Given the description of an element on the screen output the (x, y) to click on. 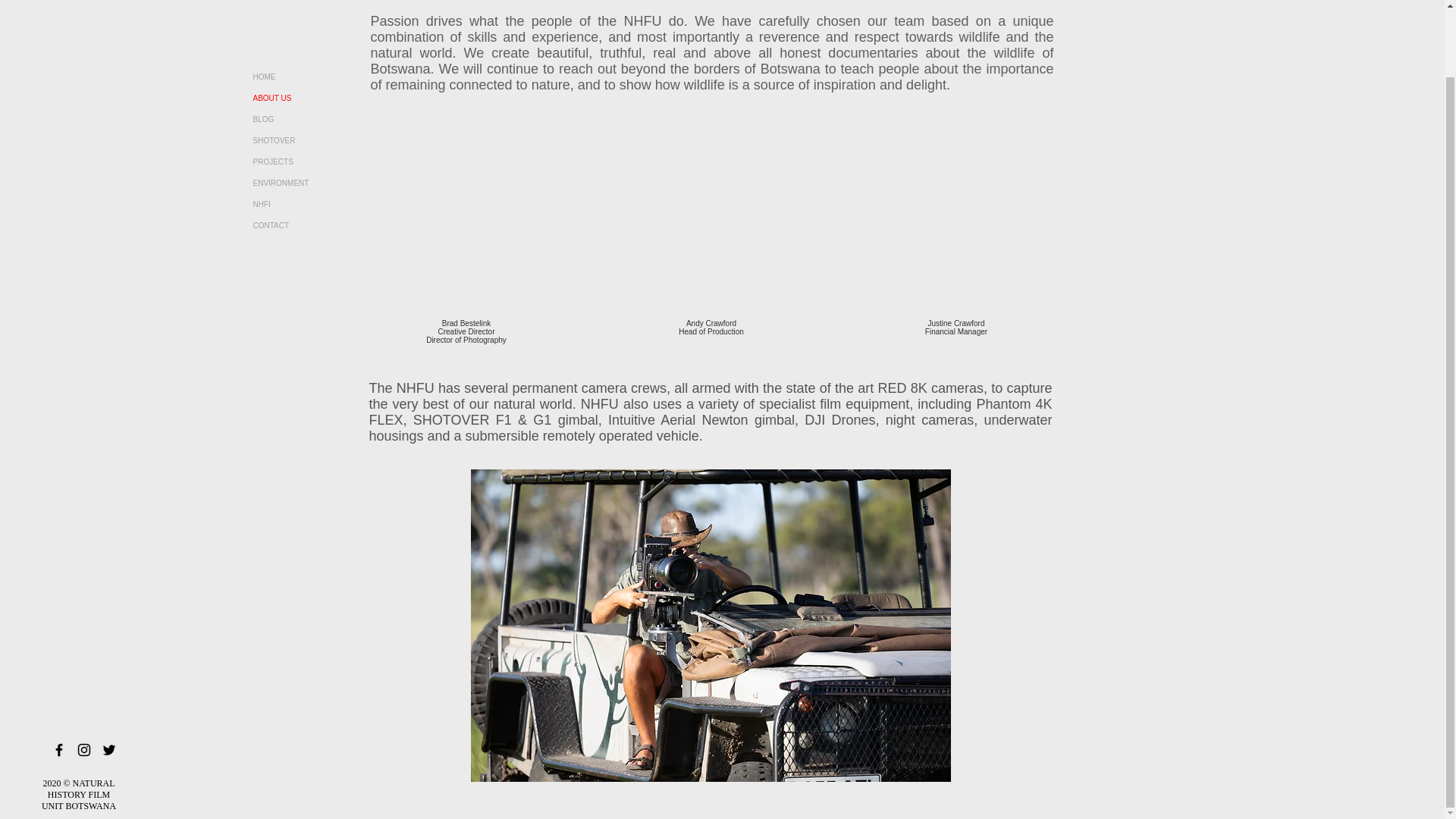
ABOUT US (307, 97)
NATURAL HISTORY FILM UNIT (78, 720)
HOME (307, 76)
NHFI (307, 204)
CONTACT (307, 225)
SHOTOVER (307, 140)
PROJECTS (307, 161)
ENVIRONMENT (307, 183)
BLOG (307, 119)
